Given the description of an element on the screen output the (x, y) to click on. 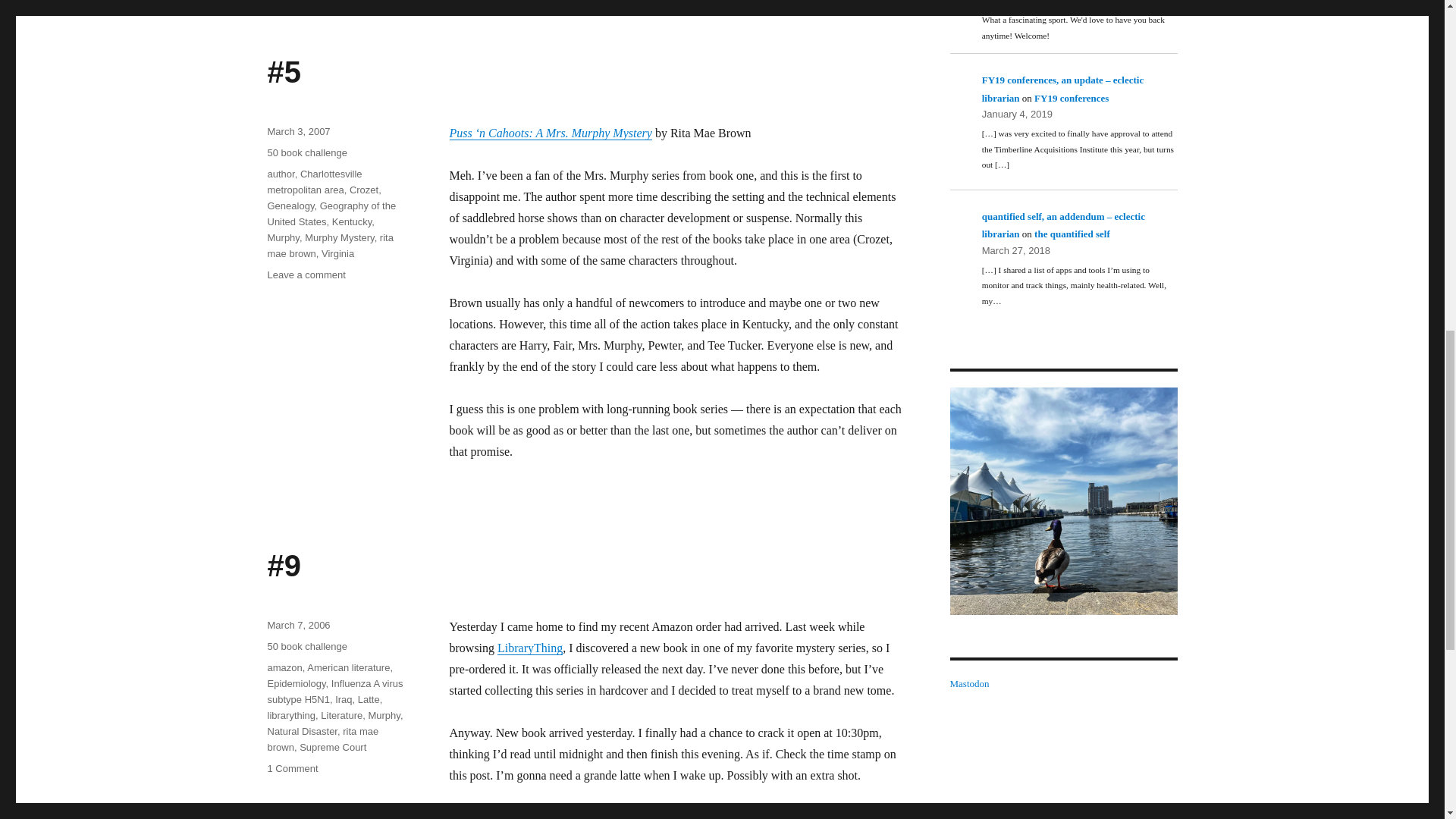
rita mae brown (329, 245)
Genealogy (290, 205)
Anna Creech (1062, 500)
Murphy Mystery (339, 237)
March 3, 2007 (298, 131)
Charlottesville metropolitan area (313, 181)
Kentucky (351, 221)
Crozet (363, 189)
Murphy (282, 237)
50 book challenge (306, 152)
author (280, 173)
LibraryThing (529, 647)
Virginia (337, 253)
Geography of the United States (331, 213)
